Given the description of an element on the screen output the (x, y) to click on. 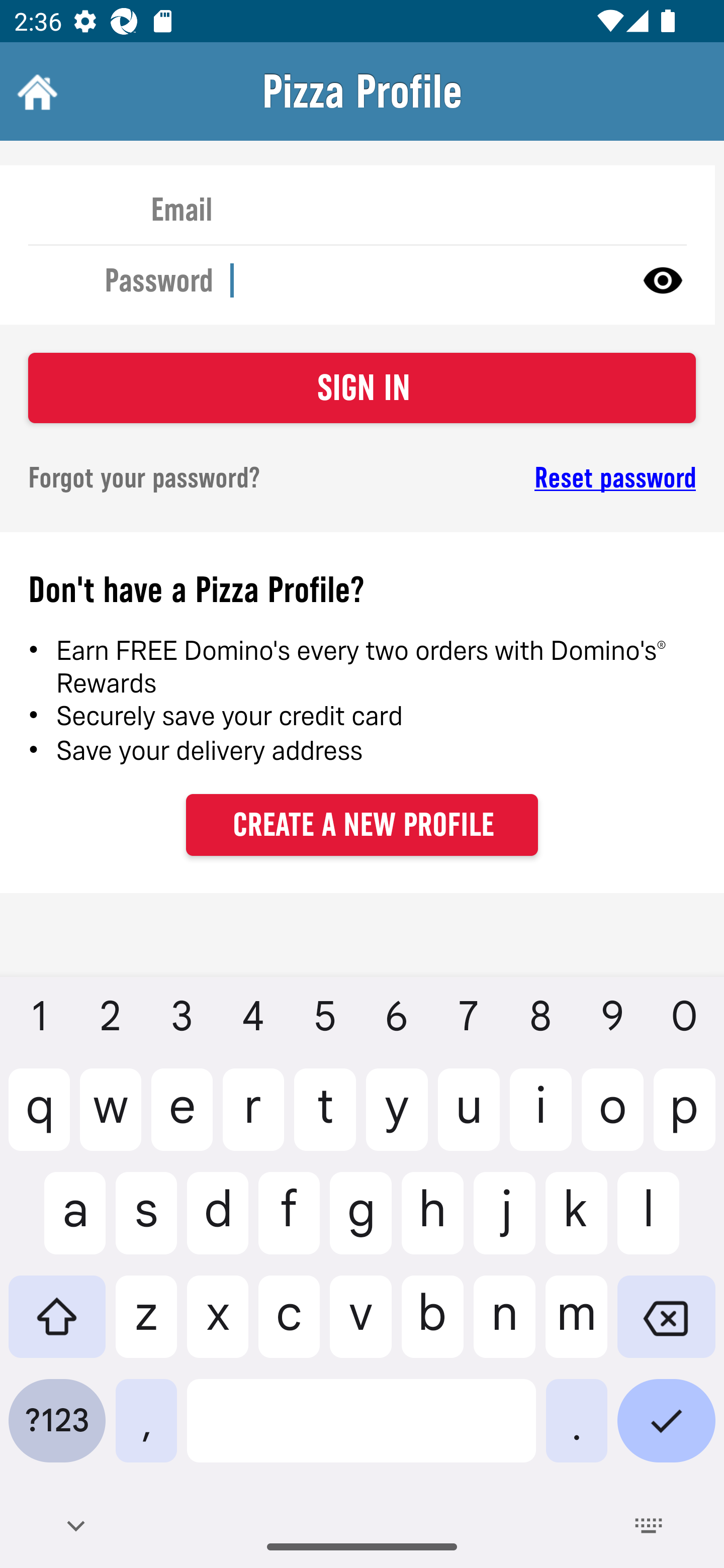
Home (35, 91)
Show Password (663, 279)
SIGN IN (361, 387)
Reset password (545, 477)
CREATE A NEW PROFILE (361, 824)
